Given the description of an element on the screen output the (x, y) to click on. 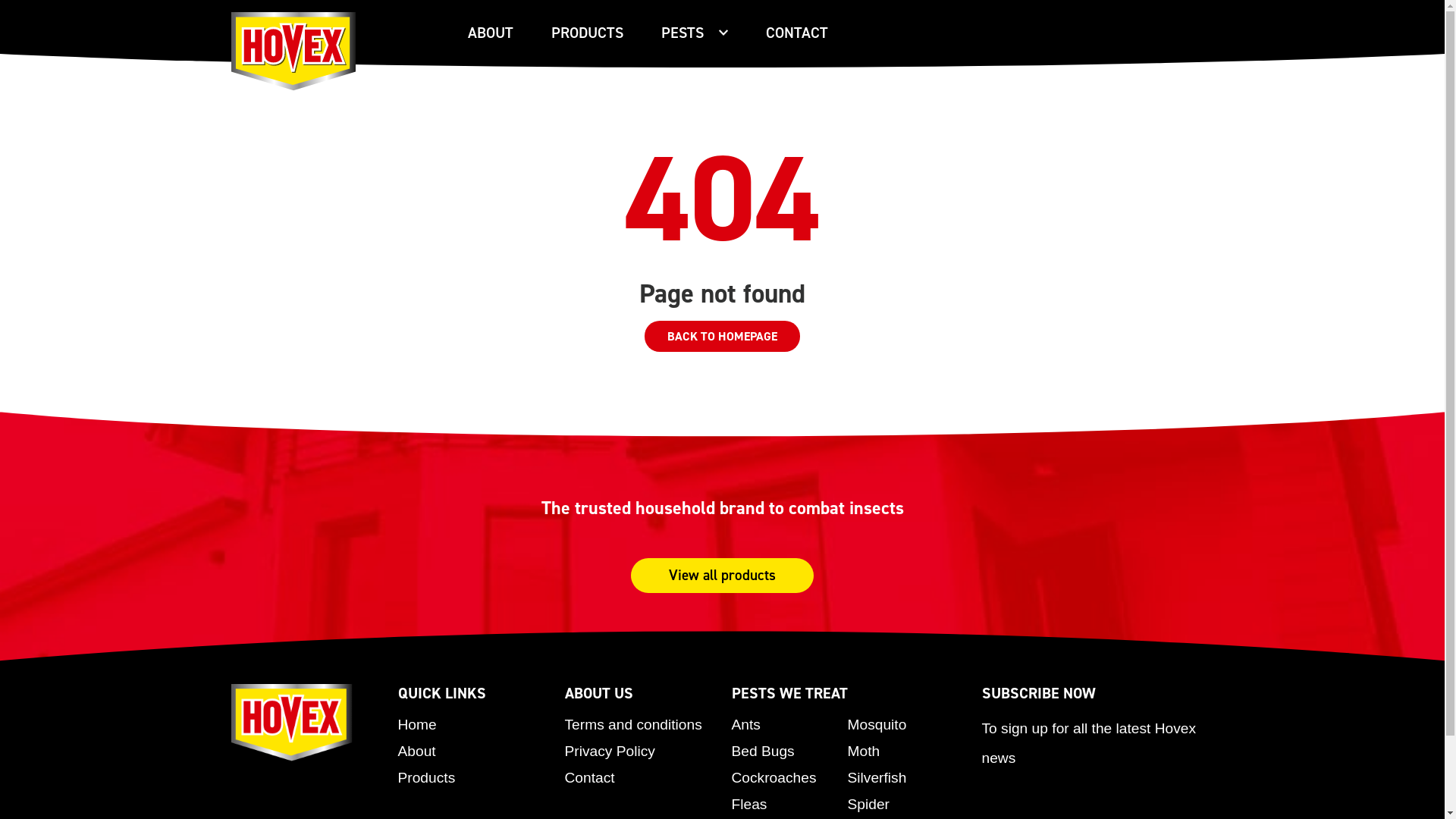
Privacy Policy Element type: text (609, 751)
About Element type: text (416, 751)
Fleas Element type: text (748, 804)
Moth Element type: text (863, 751)
Terms and conditions Element type: text (632, 724)
PRODUCTS Element type: text (586, 32)
Contact Element type: text (589, 777)
Products Element type: text (426, 777)
CONTACT Element type: text (796, 32)
PESTS Element type: text (694, 32)
Cockroaches Element type: text (773, 777)
Bed Bugs Element type: text (762, 751)
Silverfish Element type: text (876, 777)
ABOUT Element type: text (489, 32)
BACK TO HOMEPAGE Element type: text (722, 335)
Home Element type: text (416, 724)
Mosquito Element type: text (876, 724)
Ants Element type: text (745, 724)
View all products Element type: text (721, 575)
Spider Element type: text (868, 804)
